Given the description of an element on the screen output the (x, y) to click on. 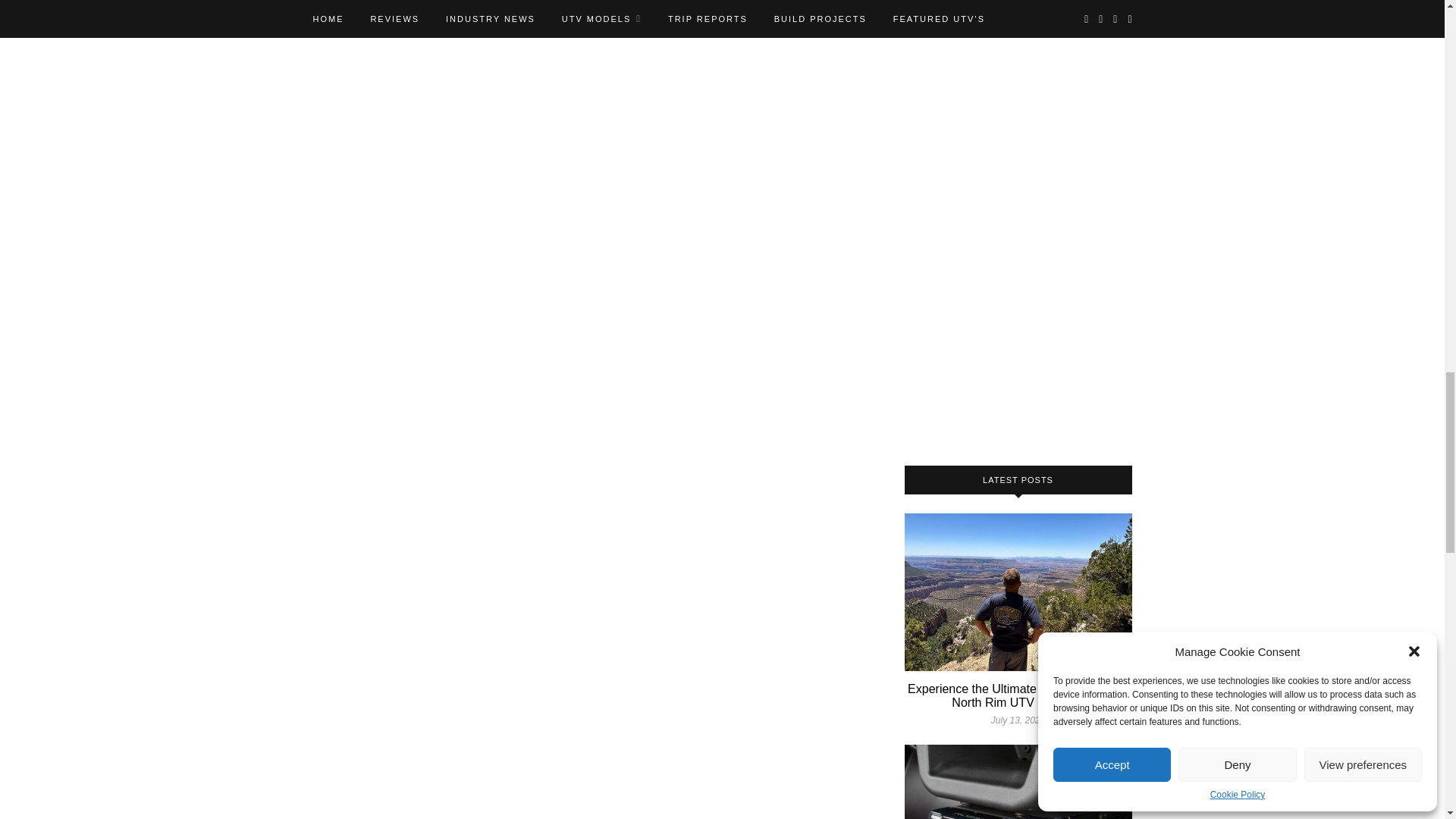
3rd party ad content (1017, 219)
